Given the description of an element on the screen output the (x, y) to click on. 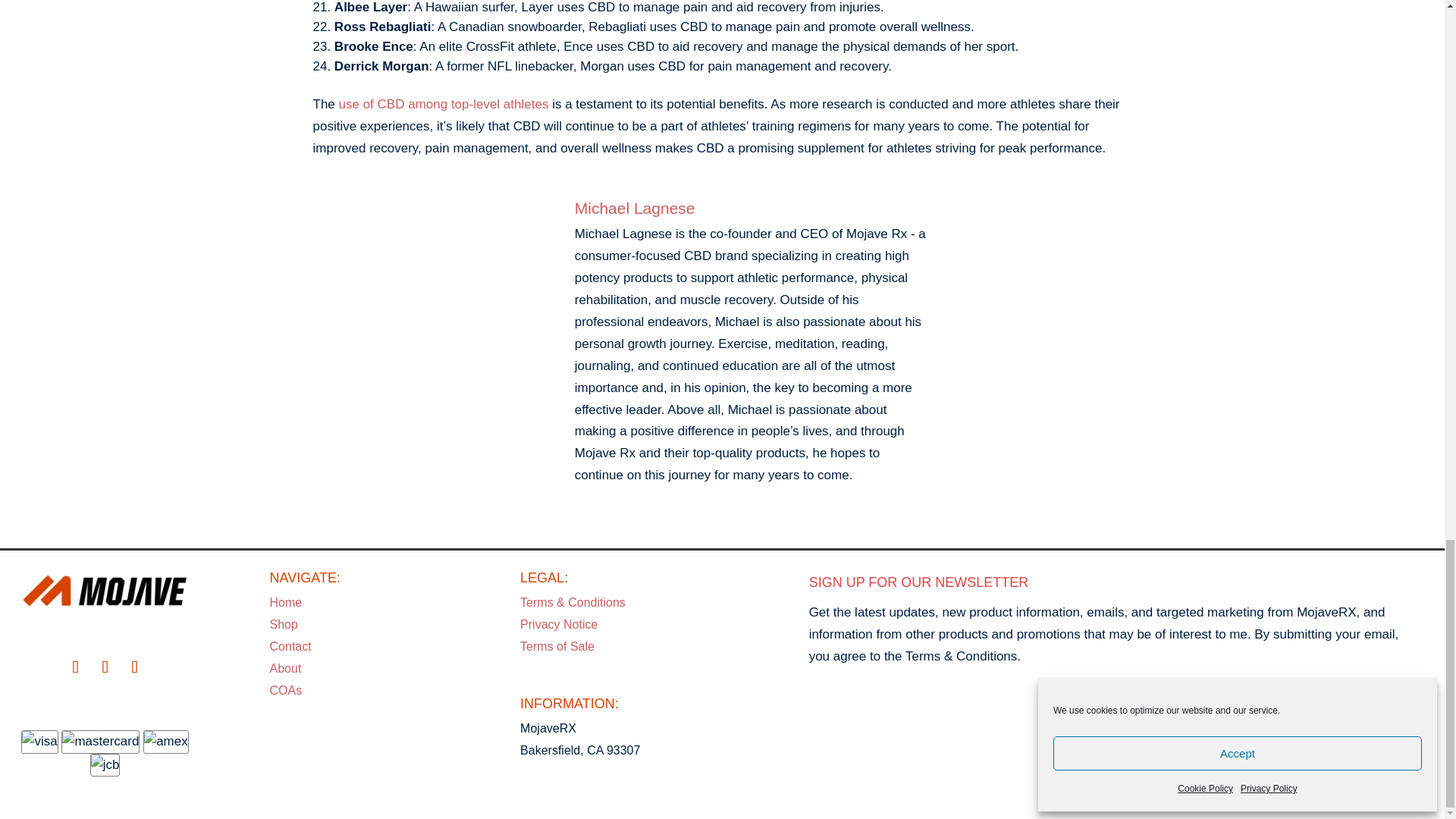
Follow on Instagram (75, 667)
Follow on Facebook (134, 667)
Follow on X (104, 667)
MOJAVE LOGO (104, 590)
